Given the description of an element on the screen output the (x, y) to click on. 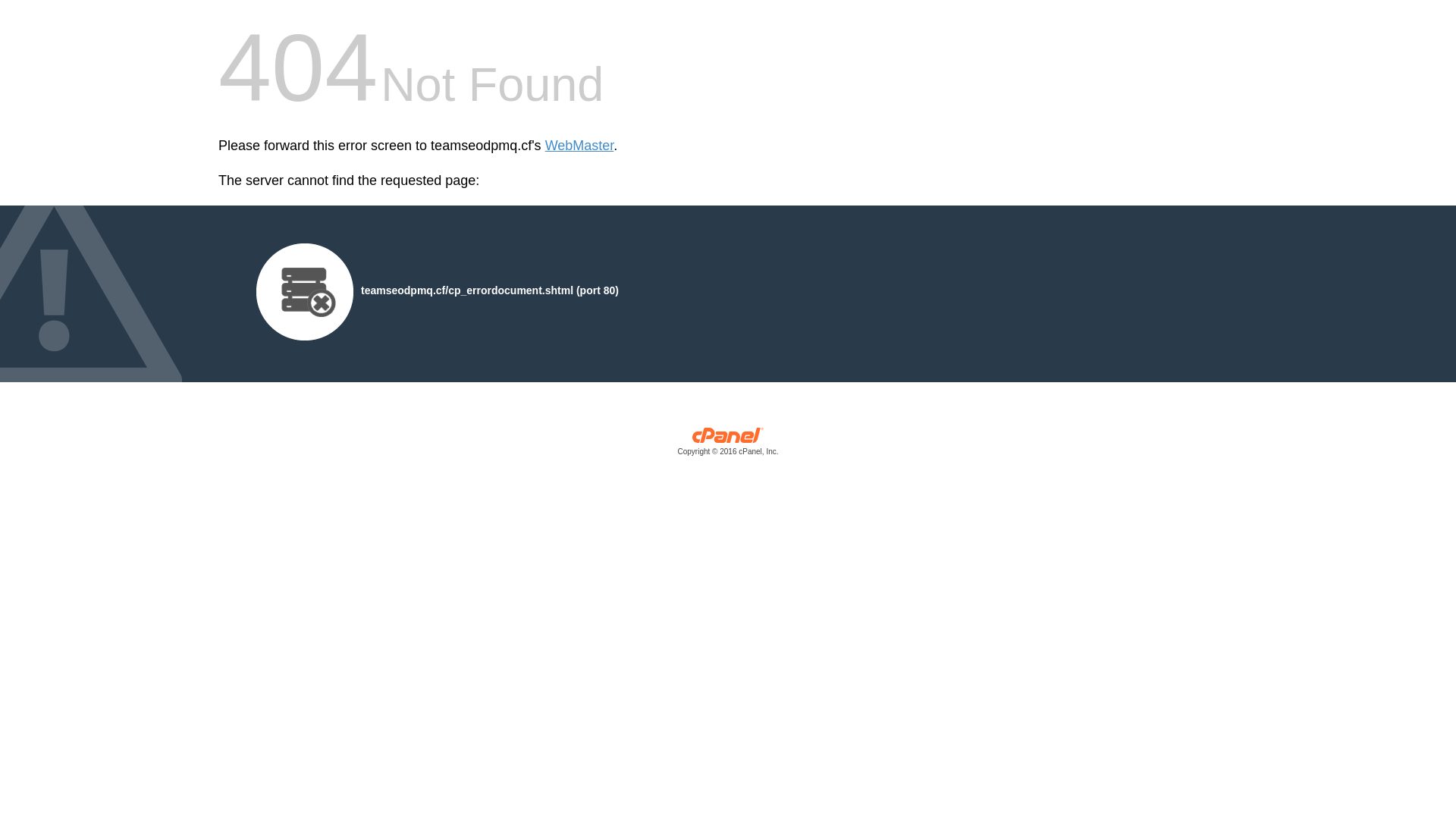
WebMaster Element type: text (579, 145)
